Given the description of an element on the screen output the (x, y) to click on. 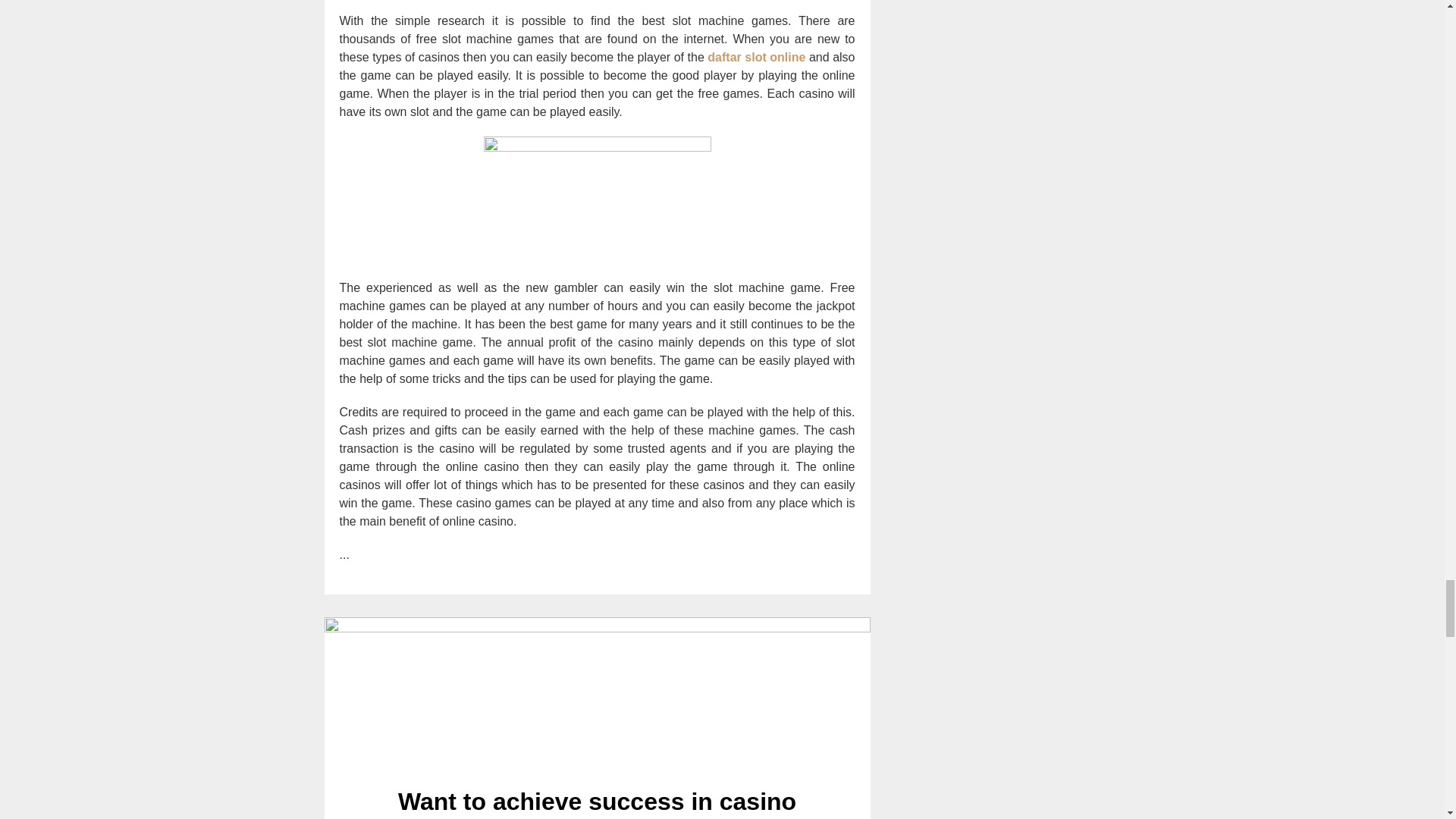
daftar slot online (756, 56)
Want to achieve success in casino gambling? (597, 693)
Want to achieve success in casino gambling? (596, 803)
Want to achieve success in casino gambling? (596, 803)
